Given the description of an element on the screen output the (x, y) to click on. 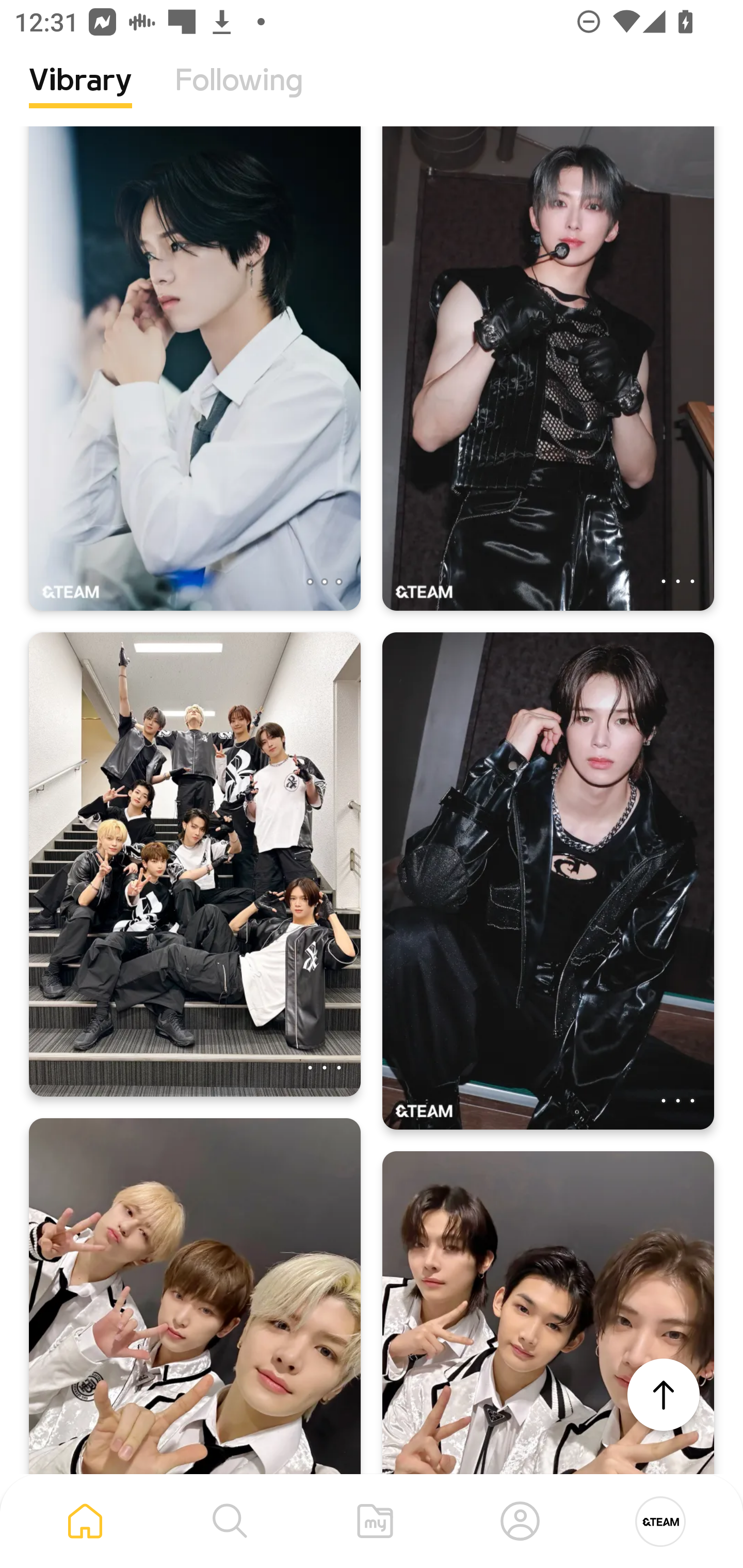
Vibrary (80, 95)
Following (239, 95)
